Given the description of an element on the screen output the (x, y) to click on. 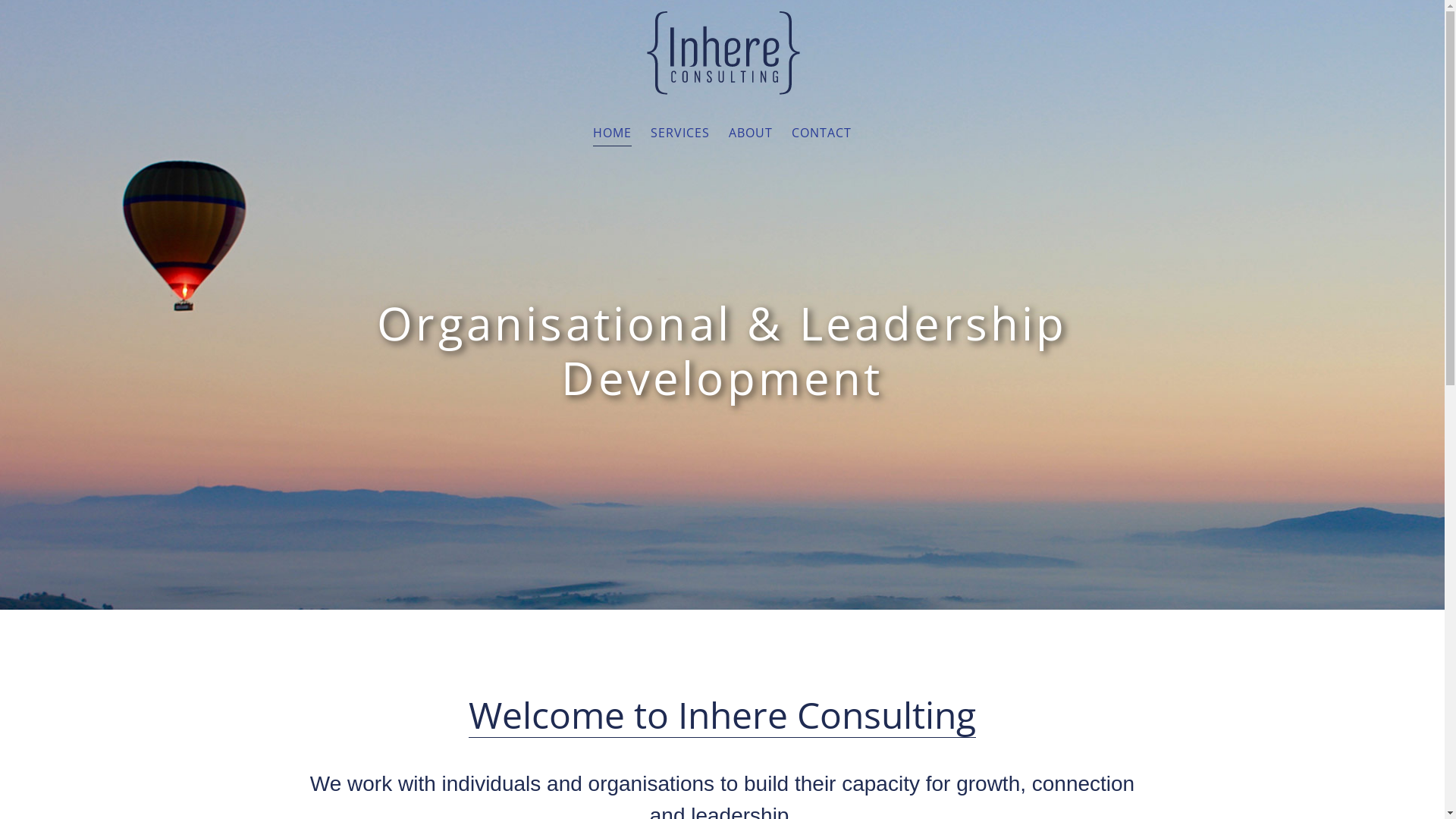
INHERE CONSULTING Element type: text (722, 52)
CONTACT Element type: text (821, 132)
HOME Element type: text (612, 132)
SERVICES Element type: text (680, 132)
ABOUT Element type: text (750, 132)
